Given the description of an element on the screen output the (x, y) to click on. 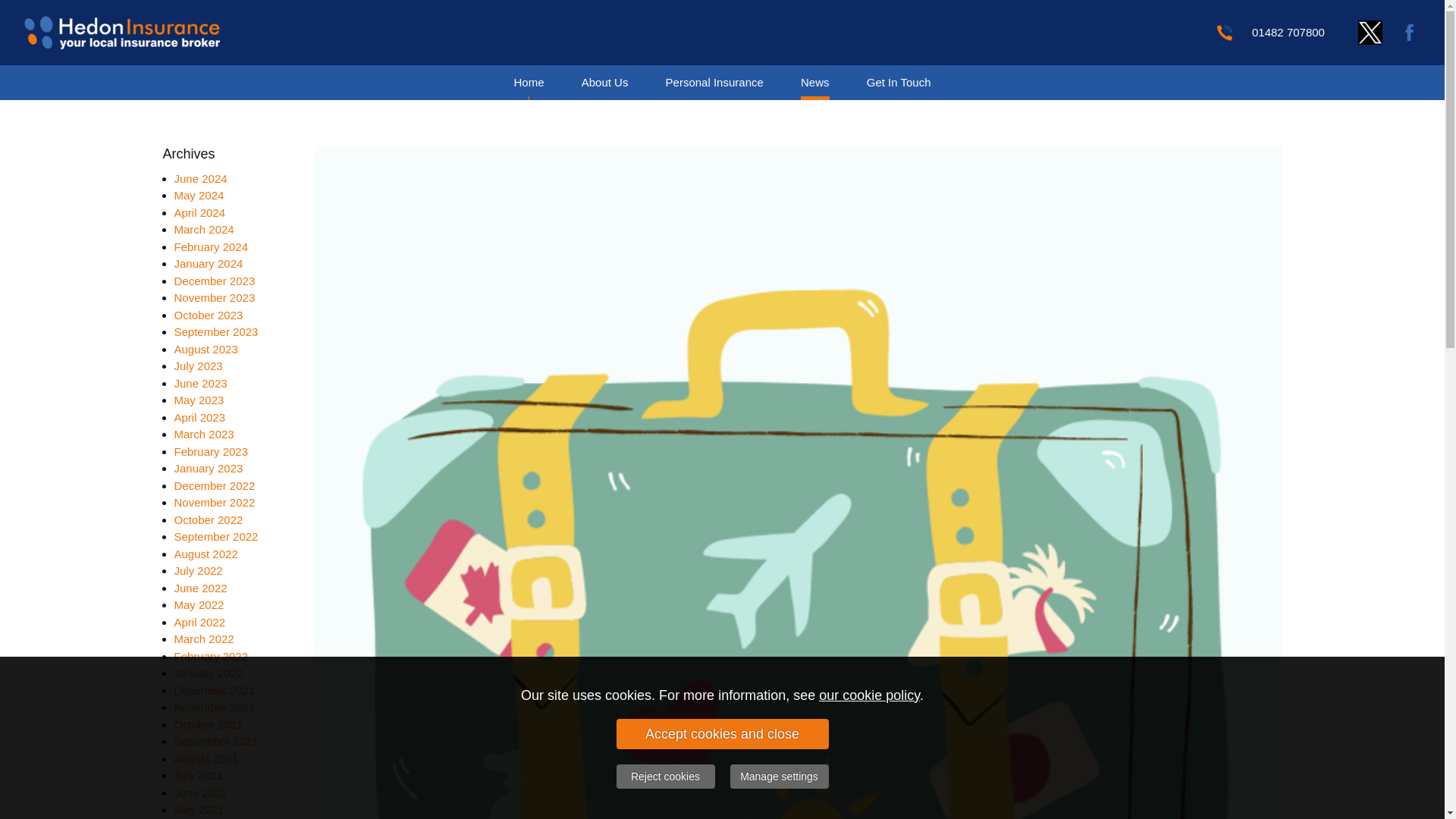
August 2023 (206, 349)
March 2023 (204, 433)
June 2024 (200, 177)
April 2024 (199, 212)
May 2024 (199, 195)
November 2023 (215, 297)
March 2024 (204, 228)
Personal Insurance (713, 82)
May 2023 (199, 399)
October 2023 (208, 314)
Get In Touch (899, 82)
January 2024 (208, 263)
July 2023 (198, 365)
June 2023 (200, 382)
September 2023 (216, 331)
